Given the description of an element on the screen output the (x, y) to click on. 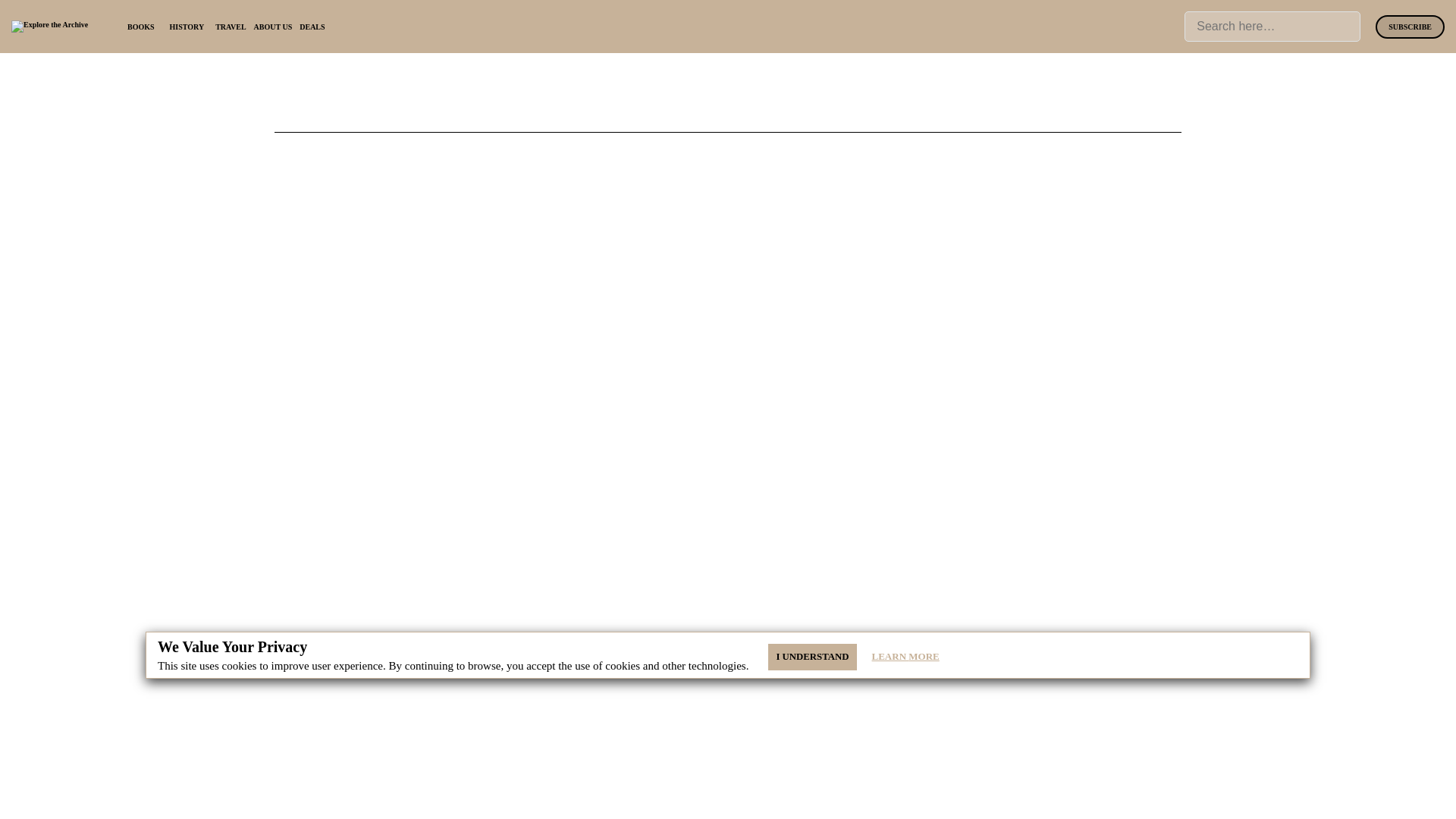
TRAVEL (230, 26)
ABOUT US (272, 26)
BOOKS (141, 26)
DEALS (311, 26)
HISTORY (187, 26)
SUBSCRIBE (1410, 26)
Explore the Archive (49, 26)
